Given the description of an element on the screen output the (x, y) to click on. 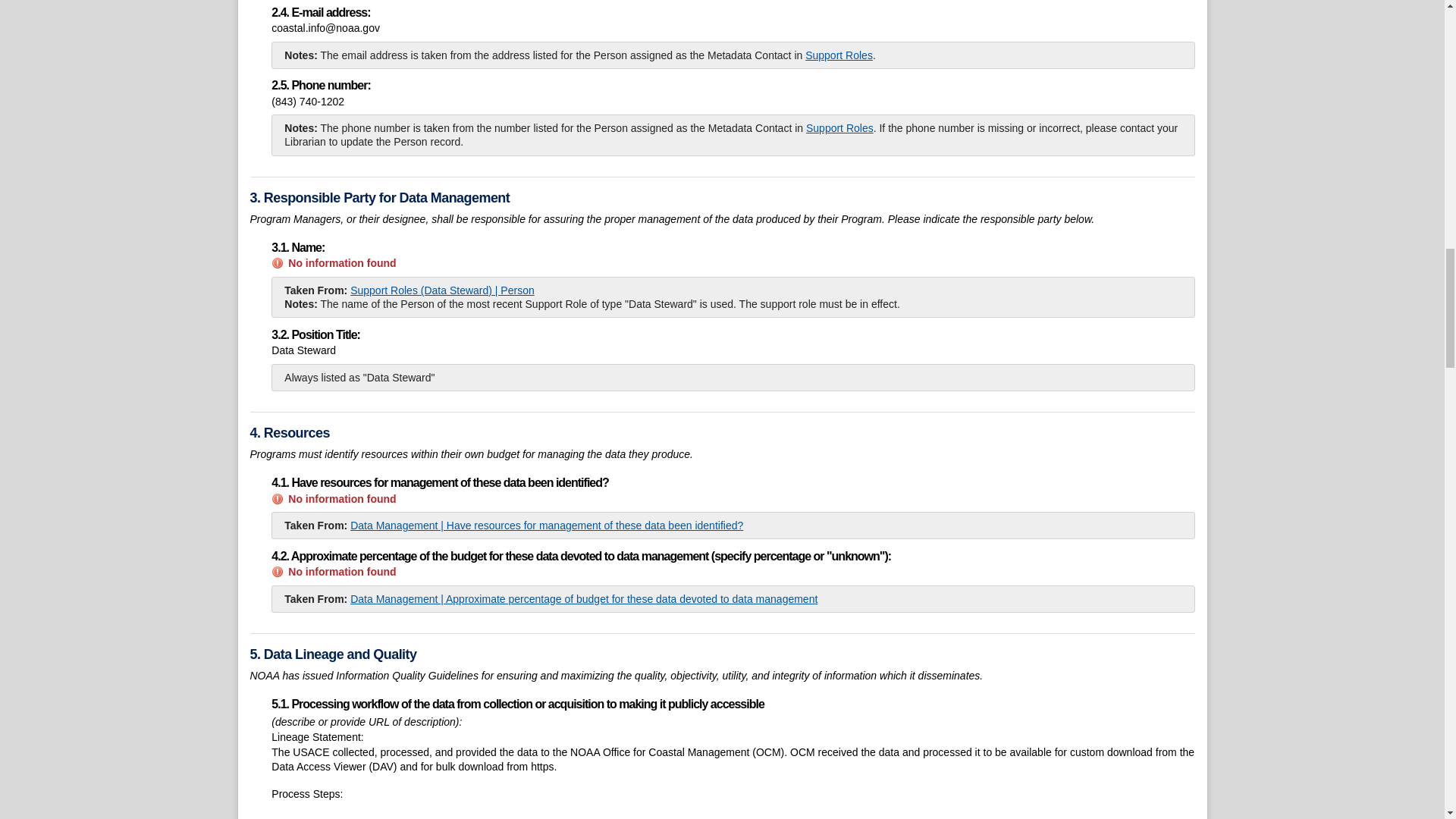
Support Roles (839, 128)
Support Roles (838, 55)
